Given the description of an element on the screen output the (x, y) to click on. 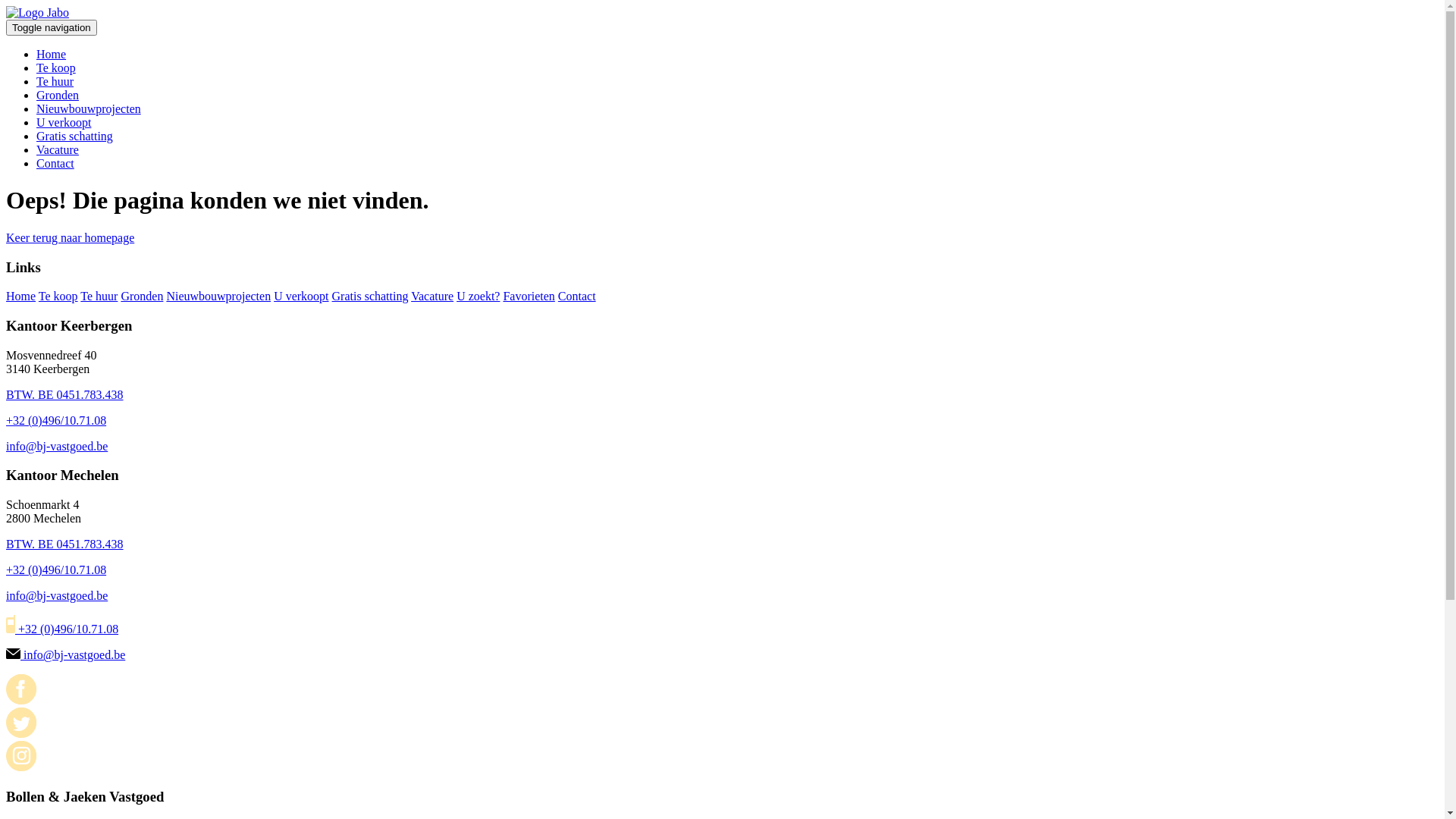
Contact Element type: text (577, 295)
U verkoopt Element type: text (300, 295)
+32 (0)496/10.71.08 Element type: text (62, 628)
Gratis schatting Element type: text (74, 135)
Nieuwbouwprojecten Element type: text (88, 108)
Te koop Element type: text (58, 295)
info@bj-vastgoed.be Element type: text (56, 445)
Home Element type: text (50, 53)
Te huur Element type: text (98, 295)
Gronden Element type: text (141, 295)
Gratis schatting Element type: text (370, 295)
Keer terug naar homepage Element type: text (70, 237)
BTW. BE 0451.783.438 Element type: text (64, 543)
Te huur Element type: text (54, 81)
Te koop Element type: text (55, 67)
Vacature Element type: text (432, 295)
info@bj-vastgoed.be Element type: text (65, 654)
Home Element type: text (20, 295)
U verkoopt Element type: text (63, 122)
BTW. BE 0451.783.438 Element type: text (64, 394)
+32 (0)496/10.71.08 Element type: text (56, 420)
info@bj-vastgoed.be Element type: text (56, 595)
Favorieten Element type: text (528, 295)
Contact Element type: text (55, 162)
U zoekt? Element type: text (477, 295)
Gronden Element type: text (57, 94)
Nieuwbouwprojecten Element type: text (218, 295)
Vacature Element type: text (57, 149)
Toggle navigation Element type: text (51, 27)
+32 (0)496/10.71.08 Element type: text (56, 569)
